Given the description of an element on the screen output the (x, y) to click on. 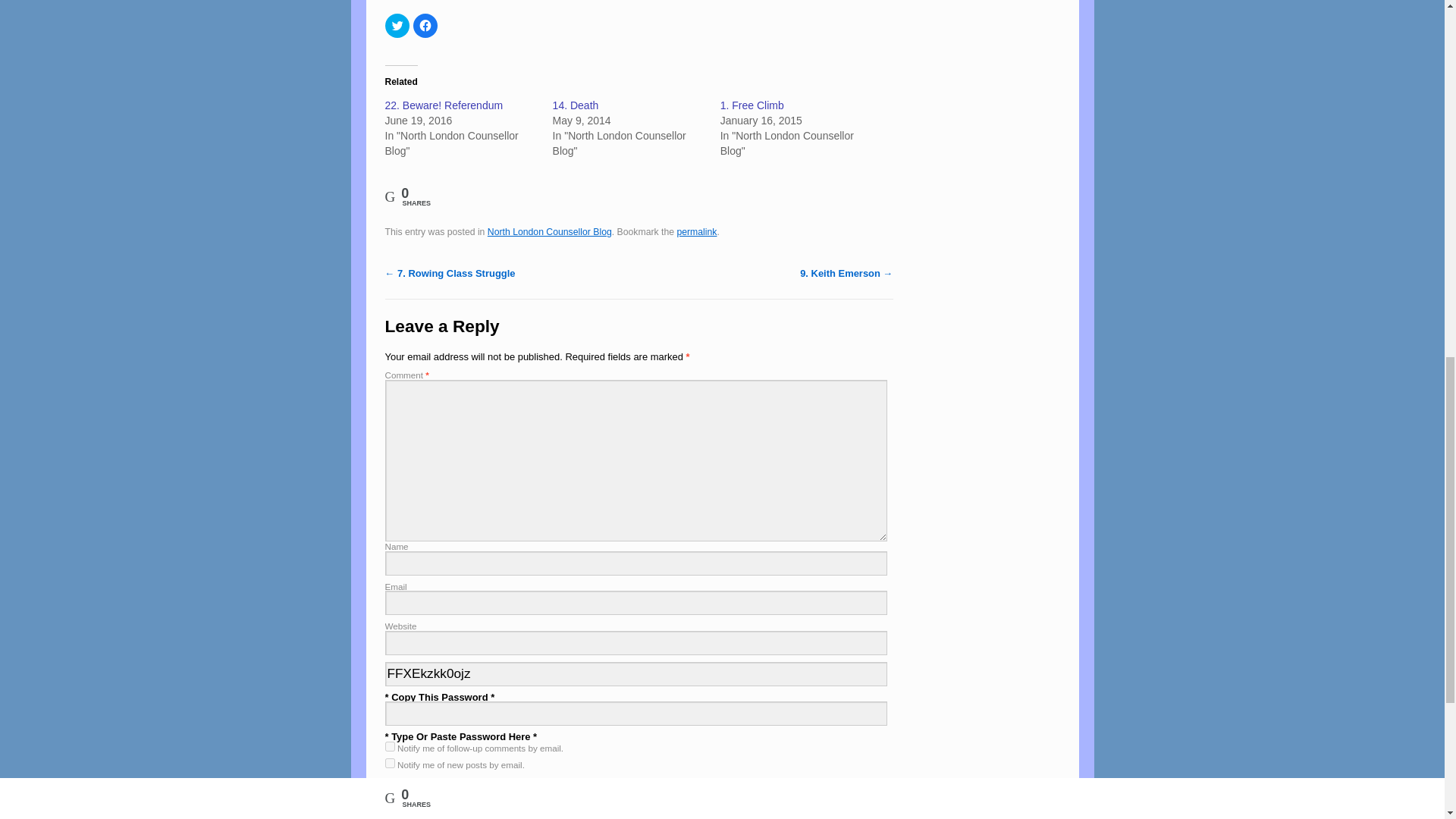
Permalink to 8. Heads Off (696, 231)
1. Free Climb (752, 105)
Click to share on Facebook (424, 25)
22. Beware! Referendum (444, 105)
Click to share on Twitter (397, 25)
14. Death (575, 105)
subscribe (389, 746)
subscribe (389, 763)
FFXEkzkk0ojz (636, 673)
Post Comment (430, 794)
